Given the description of an element on the screen output the (x, y) to click on. 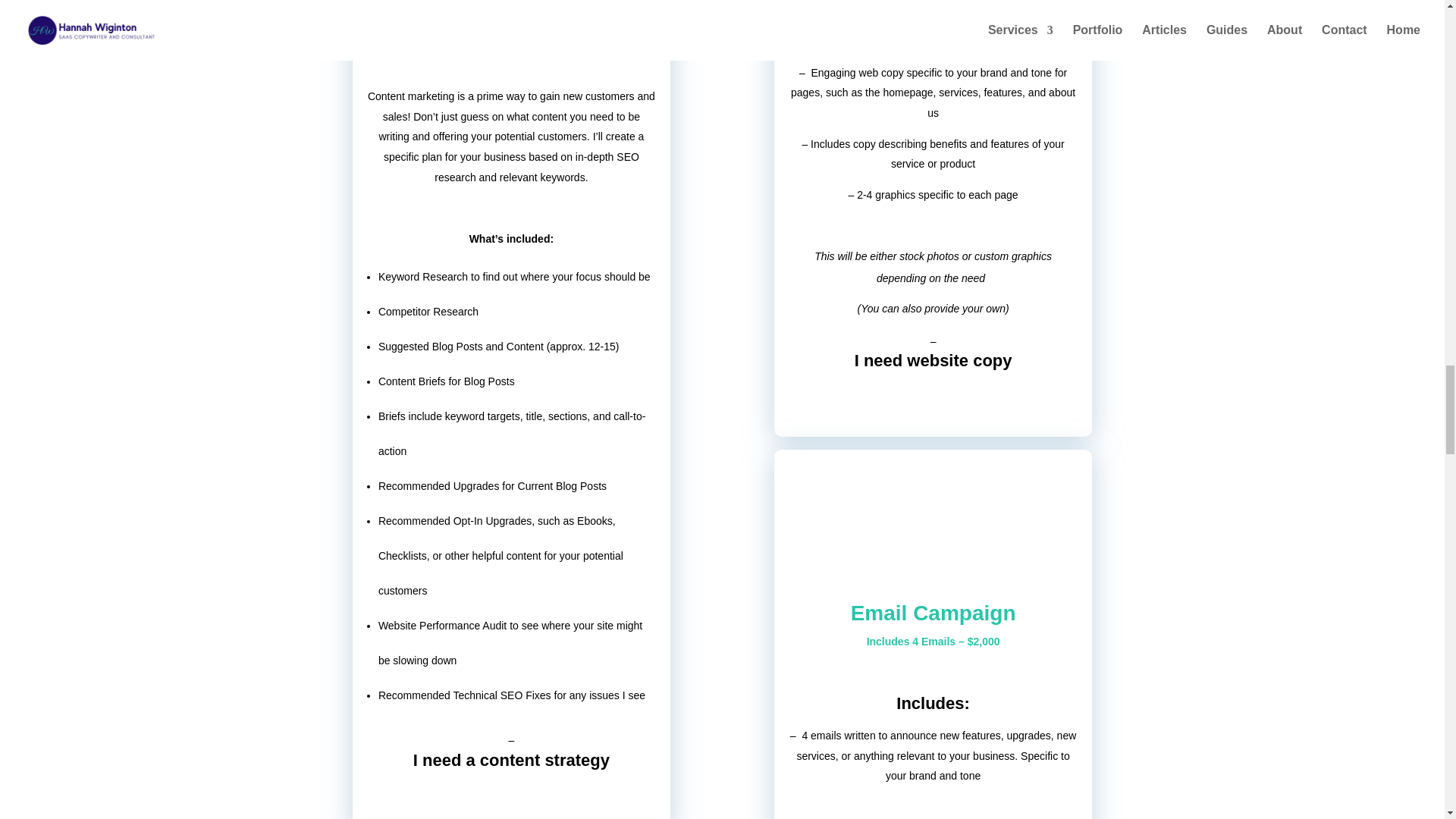
I need website copy (932, 360)
I need a content strategy (511, 760)
